Given the description of an element on the screen output the (x, y) to click on. 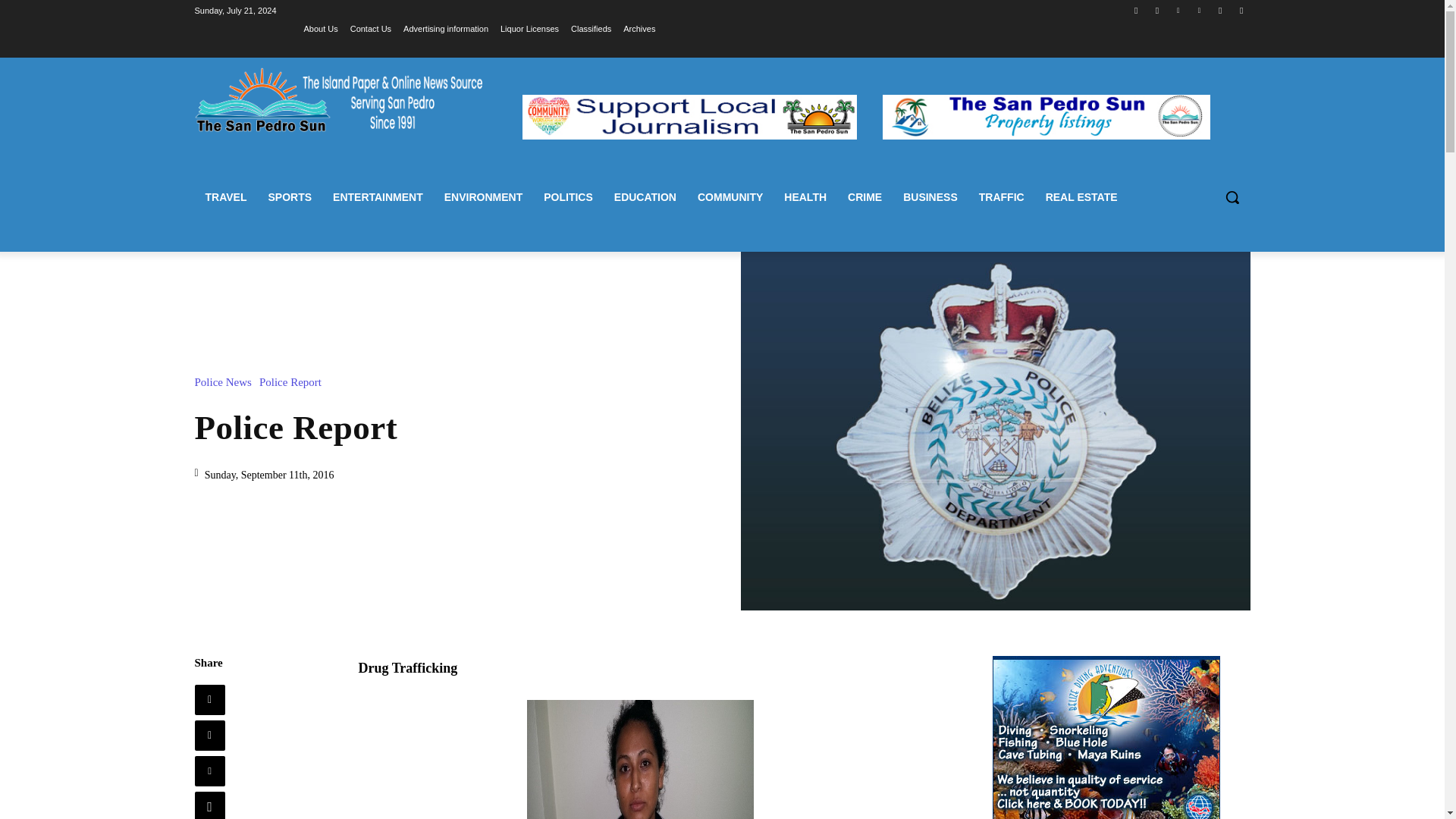
HEALTH (805, 197)
Facebook (1135, 9)
TRAVEL (225, 197)
Twitter (1219, 9)
POLITICS (568, 197)
Linkedin (1177, 9)
COMMUNITY (730, 197)
SPORTS (289, 197)
Archives (639, 28)
CRIME (864, 197)
Contact Us (370, 28)
Instagram (1157, 9)
BUSINESS (930, 197)
ENTERTAINMENT (377, 197)
